Given the description of an element on the screen output the (x, y) to click on. 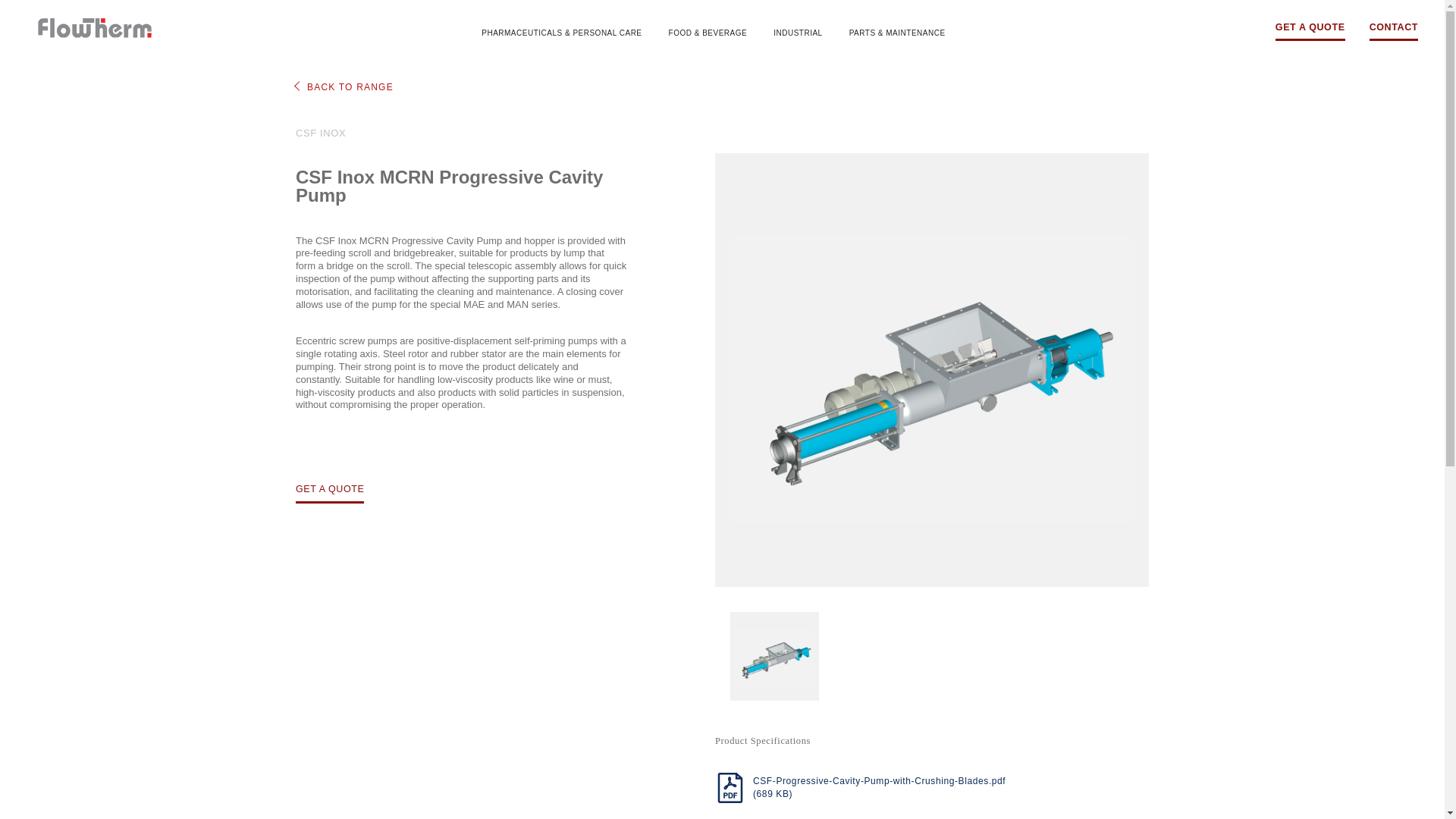
BACK TO RANGE (344, 87)
INDUSTRIAL (797, 32)
CONTACT (1394, 31)
